Given the description of an element on the screen output the (x, y) to click on. 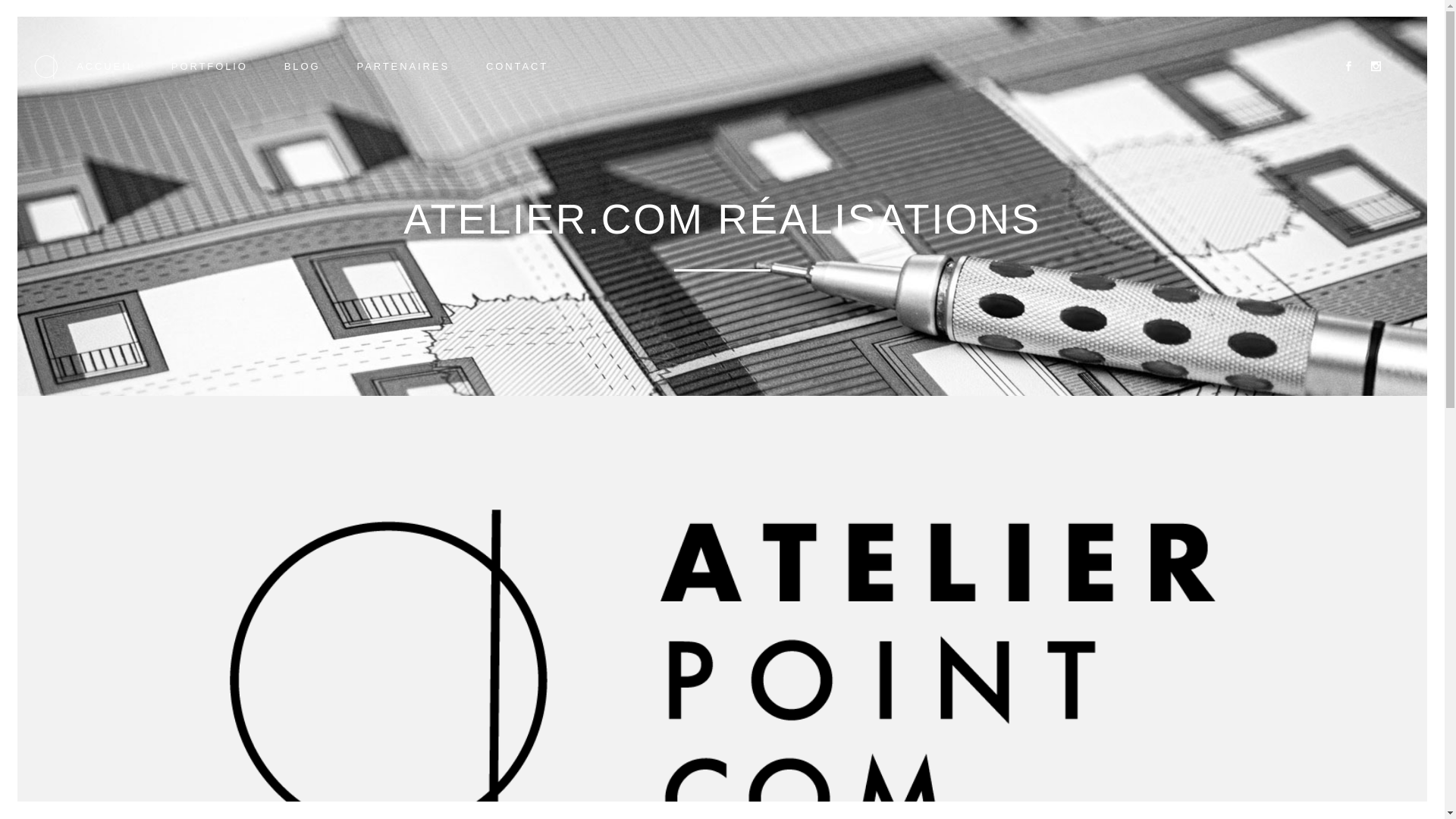
BLOG Element type: text (302, 66)
CONTACT Element type: text (516, 66)
PARTENAIRES Element type: text (402, 66)
PORTFOLIO Element type: text (209, 66)
ACCUEIL Element type: text (105, 66)
